Given the description of an element on the screen output the (x, y) to click on. 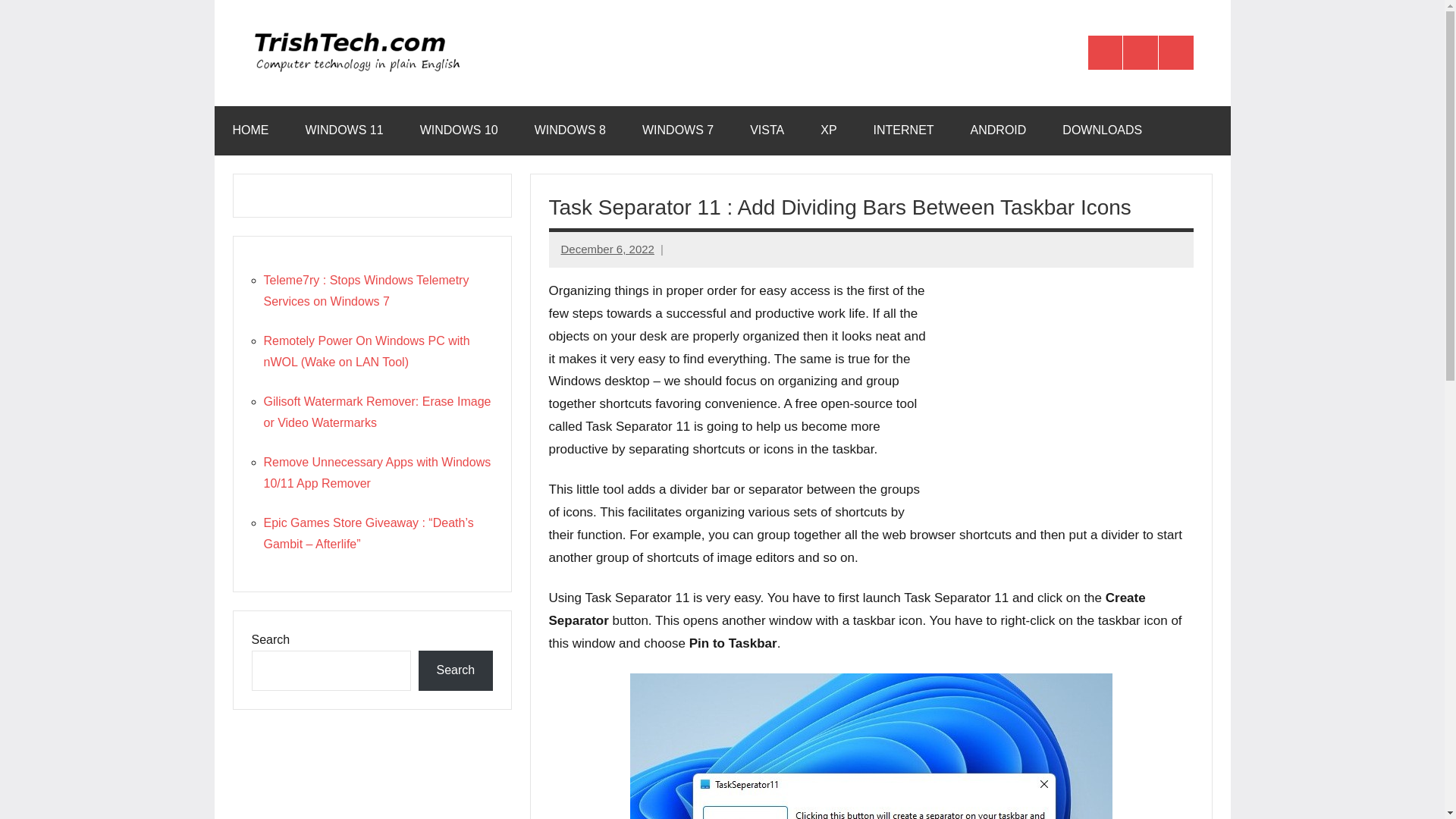
XP (828, 130)
X (1139, 53)
Teleme7ry : Stops Windows Telemetry Services on Windows 7 (365, 290)
Gilisoft Watermark Remover: Erase Image or Video Watermarks (377, 411)
Teleme7ry : Stops Windows Telemetry Services on Windows 7 (365, 290)
WINDOWS 8 (570, 130)
YouTube (1175, 53)
INTERNET (904, 130)
VISTA (767, 130)
Facebook (1104, 53)
